Given the description of an element on the screen output the (x, y) to click on. 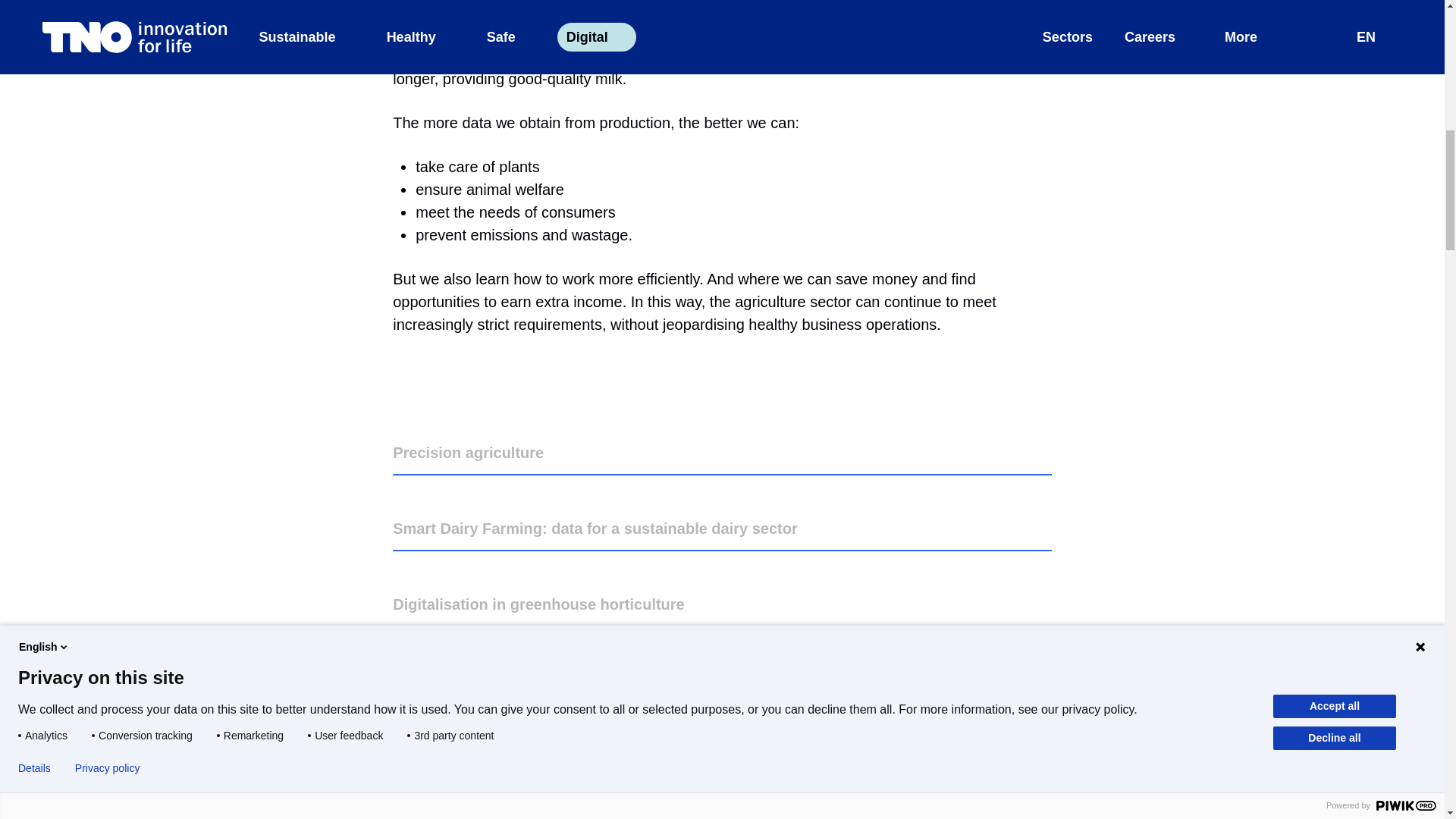
Digitalisation in greenhouse horticulture (721, 604)
Data sharing offers companies opportunities (540, 765)
IDS Blockchain (578, 811)
Precision agriculture (721, 452)
Smart Dairy Farming: data for a sustainable dairy sector (721, 527)
